Given the description of an element on the screen output the (x, y) to click on. 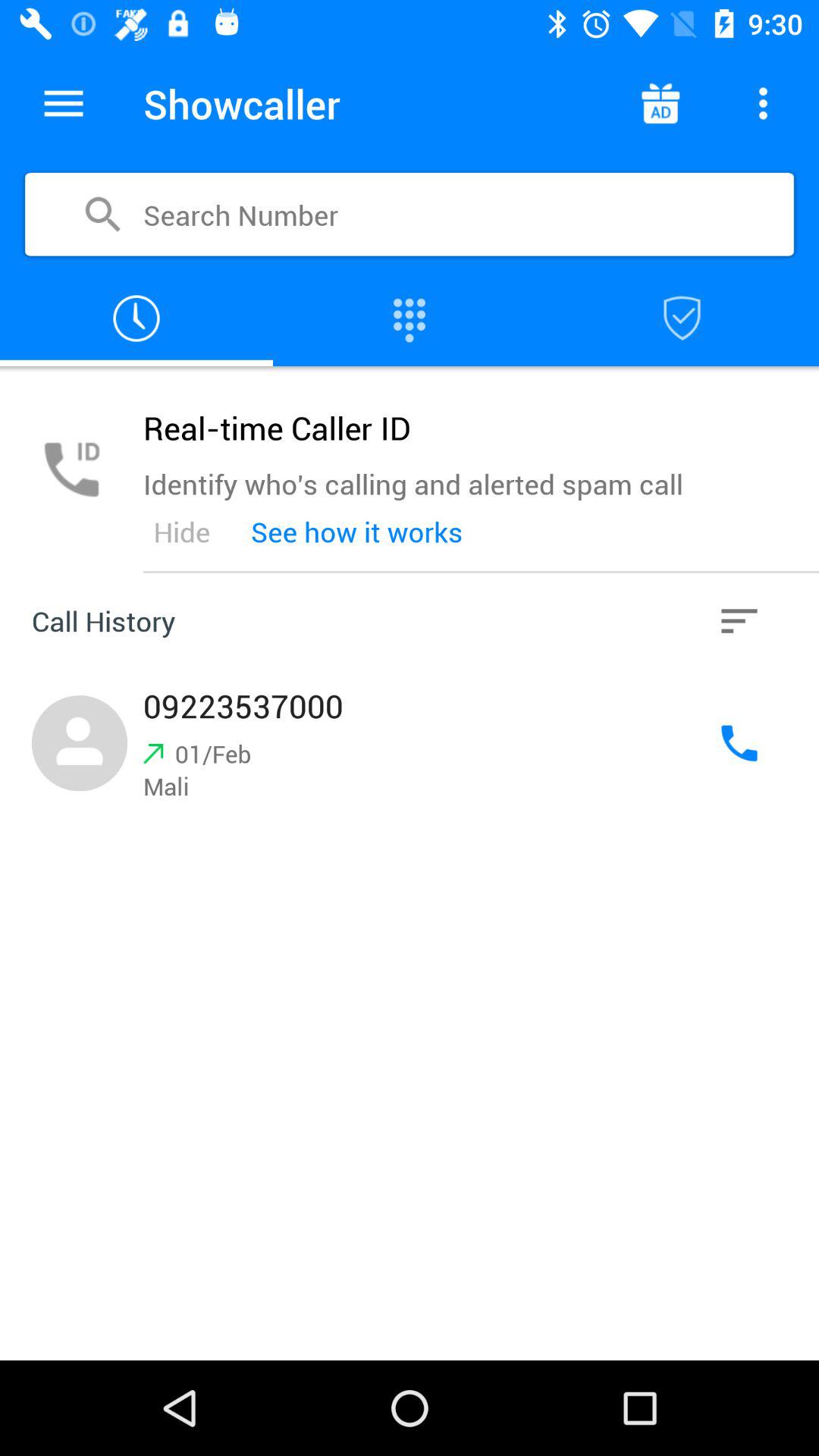
call the number (739, 743)
